Given the description of an element on the screen output the (x, y) to click on. 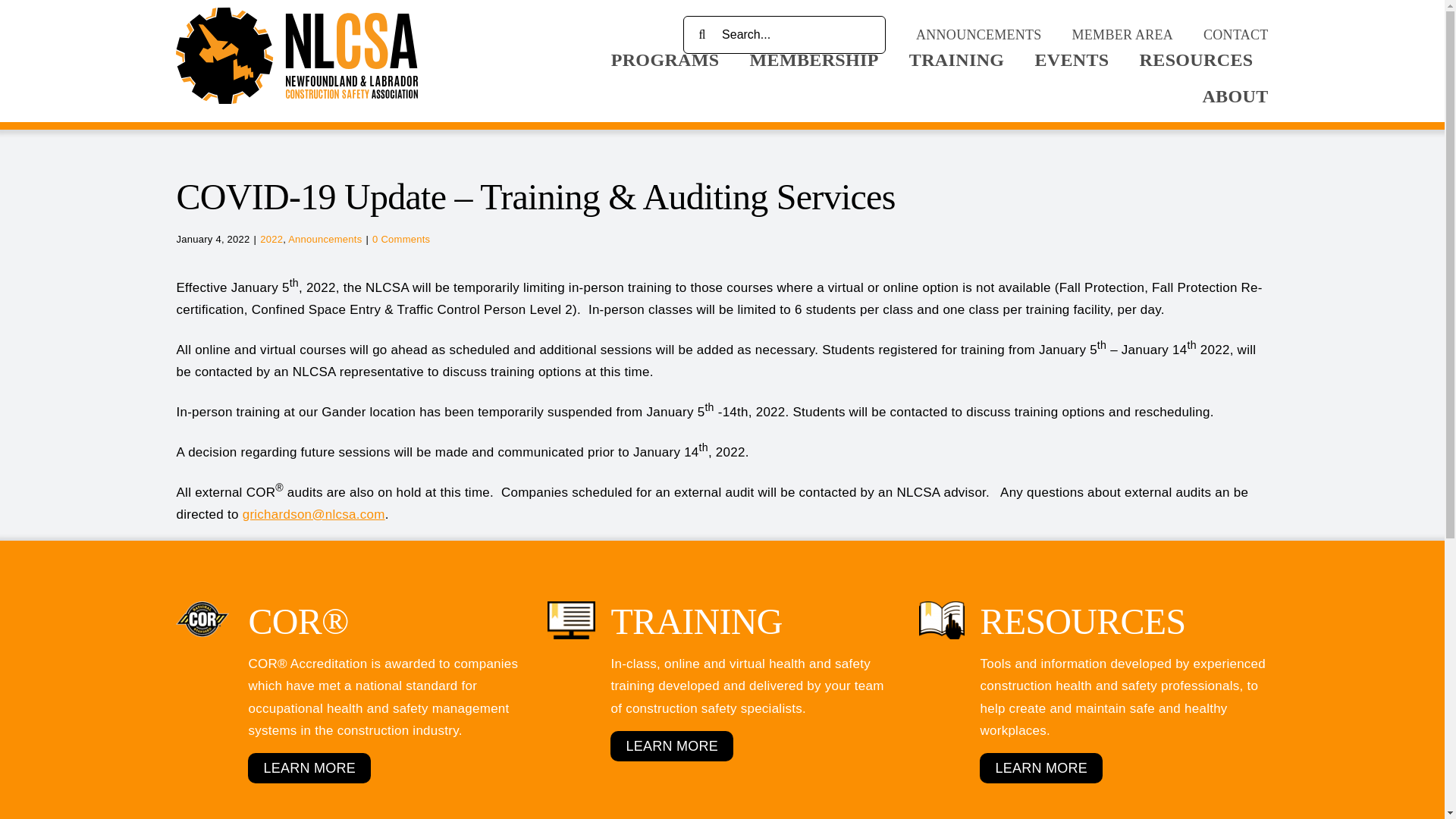
PROGRAMS (665, 59)
LEARN MORE (309, 767)
ANNOUNCEMENTS (978, 34)
TRAINING (664, 621)
MEMBERSHIP (814, 59)
0 Comments (400, 238)
RESOURCES (1051, 621)
Announcements (324, 238)
LEARN MORE (671, 746)
CONTACT (1236, 34)
LEARN MORE (1040, 767)
MEMBER AREA (1122, 34)
TRAINING (956, 59)
EVENTS (1070, 59)
ABOUT (1235, 95)
